Given the description of an element on the screen output the (x, y) to click on. 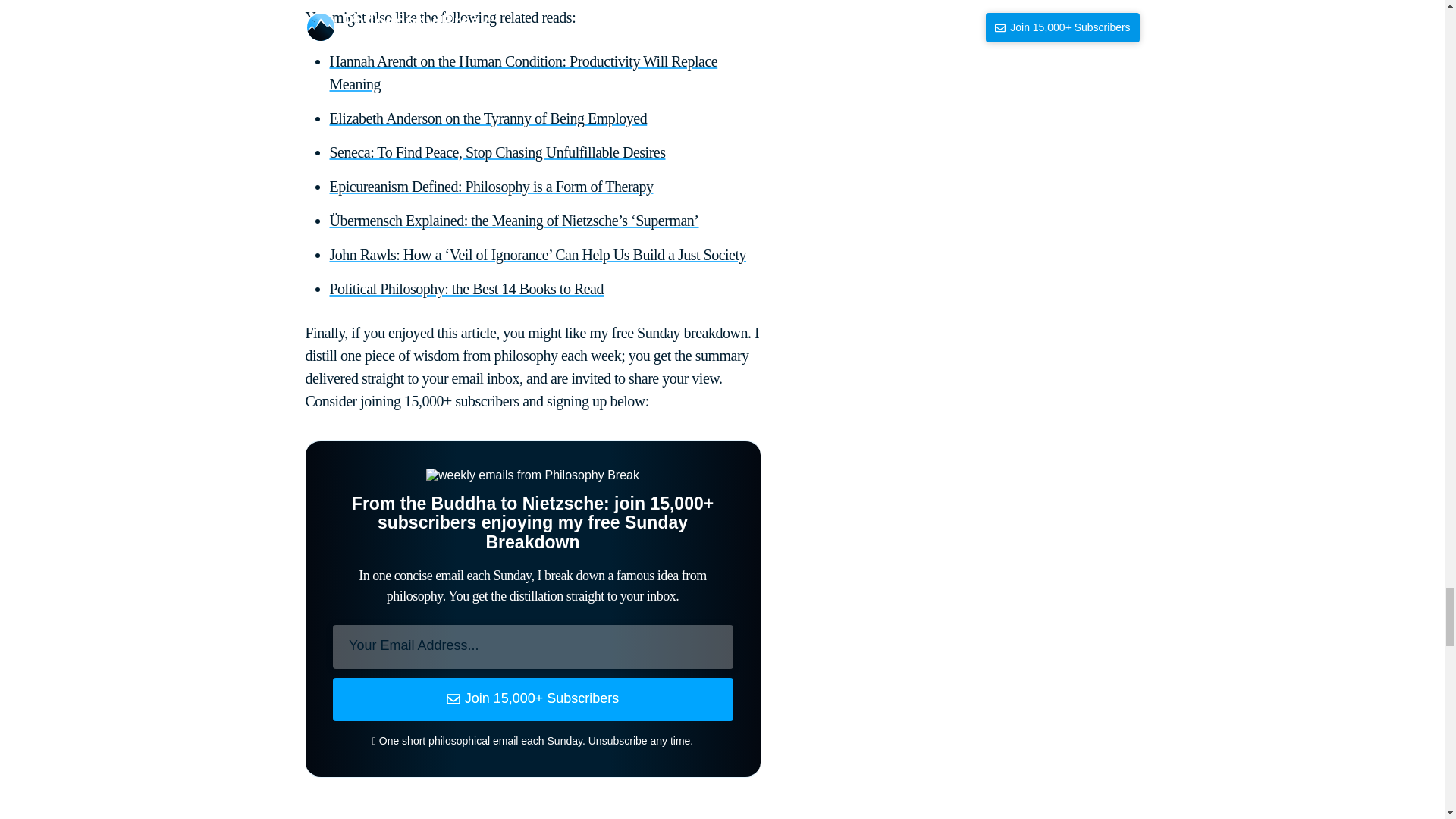
Seneca: To Find Peace, Stop Chasing Unfulfillable Desires (497, 152)
Elizabeth Anderson on the Tyranny of Being Employed (487, 117)
Political Philosophy: the Best 14 Books to Read (466, 288)
Epicureanism Defined: Philosophy is a Form of Therapy (490, 186)
